Given the description of an element on the screen output the (x, y) to click on. 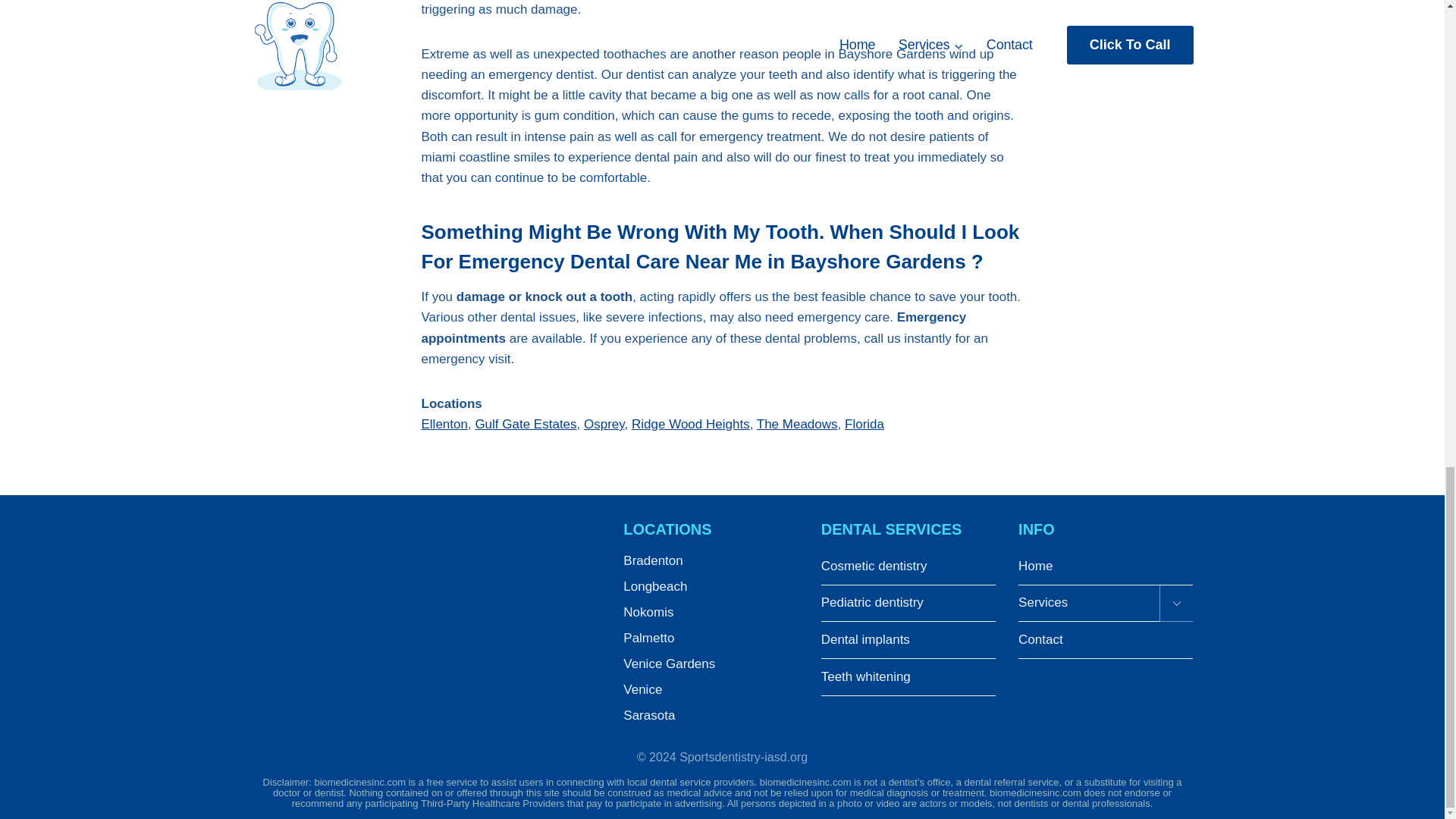
Gulf Gate Estates (525, 423)
Home (1104, 566)
Nokomis (710, 612)
The Meadows (797, 423)
Ellenton (444, 423)
Venice Gardens (710, 664)
Services (1087, 603)
Cosmetic dentistry (908, 566)
Palmetto (710, 638)
Teeth whitening (908, 677)
Florida (863, 423)
Sarasota (710, 715)
Longbeach (710, 586)
Google map of Venice Florida (426, 619)
Toggle child menu (1175, 603)
